Given the description of an element on the screen output the (x, y) to click on. 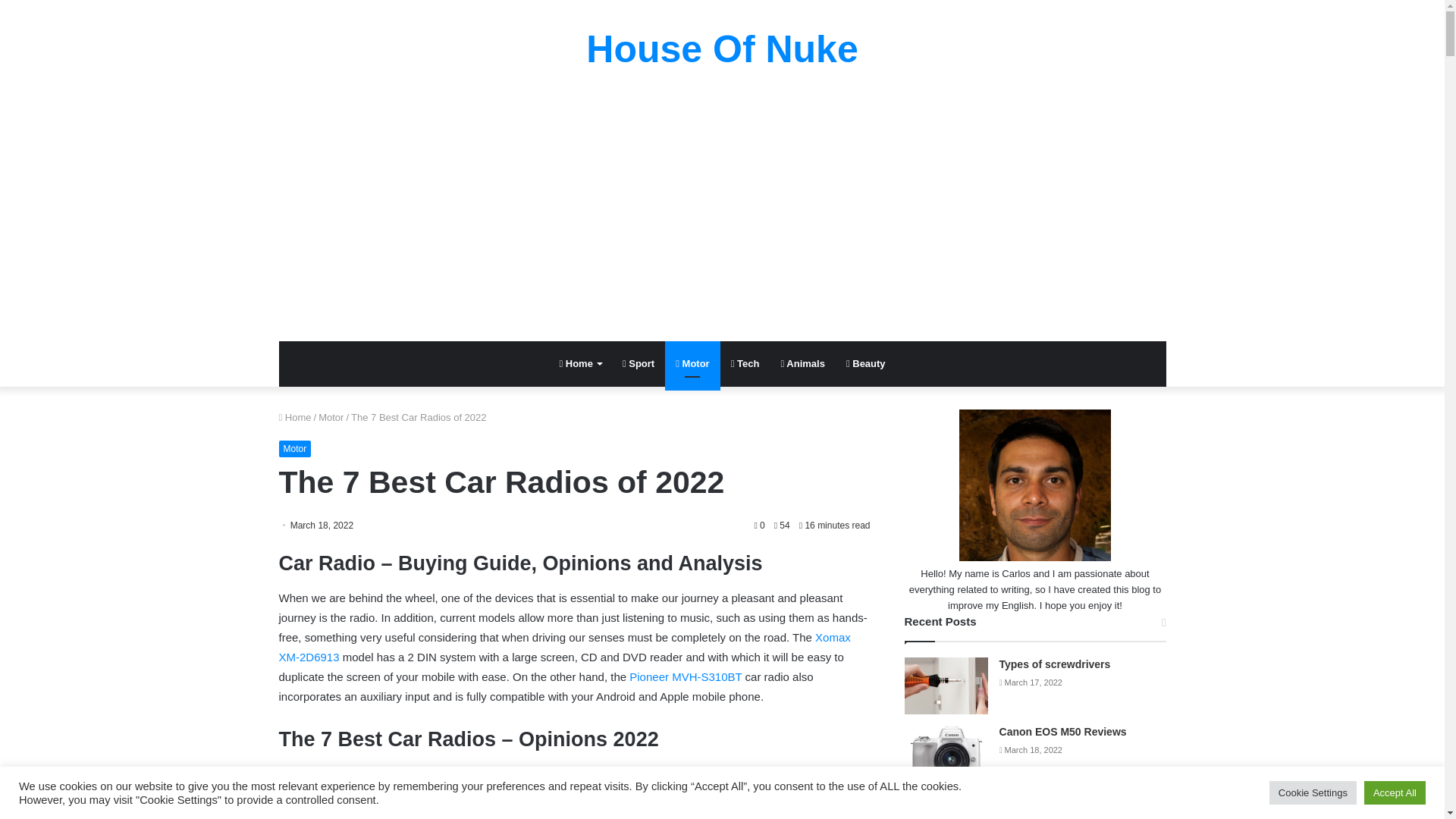
Xomax XM-2D6913 (564, 646)
Motor (295, 448)
House Of Nuke (721, 48)
Motor (330, 417)
Home (295, 417)
House Of Nuke (721, 48)
Home (579, 363)
Tech (745, 363)
Motor (692, 363)
Pioneer MVH-S310BT (684, 676)
Beauty (865, 363)
Animals (802, 363)
Sport (638, 363)
